Given the description of an element on the screen output the (x, y) to click on. 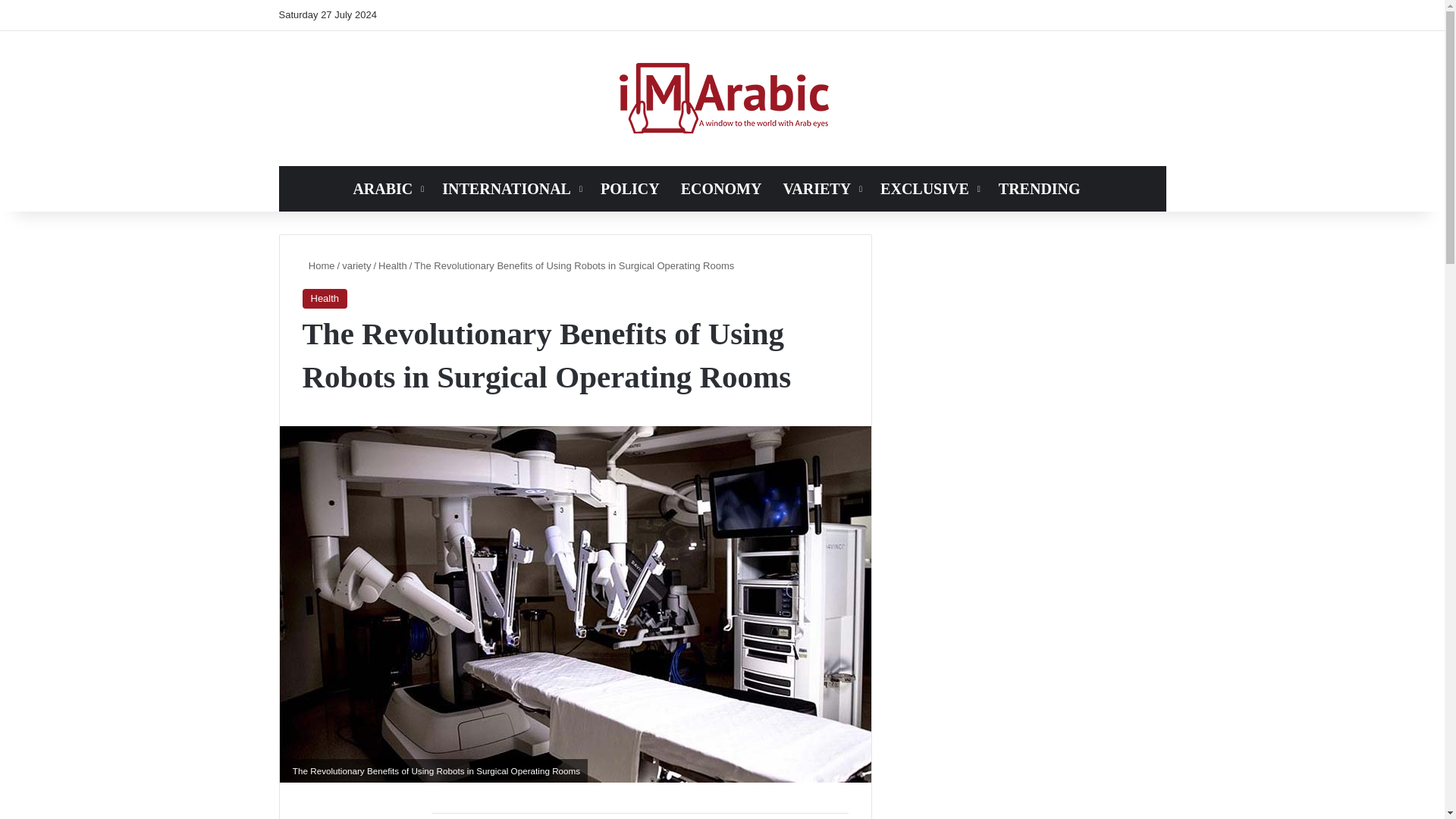
TRENDING (1039, 188)
EXCLUSIVE (928, 188)
ARABIC (386, 188)
POLICY (629, 188)
VARIETY (820, 188)
ECONOMY (721, 188)
INTERNATIONAL (509, 188)
En.ImArabic (721, 98)
